Given the description of an element on the screen output the (x, y) to click on. 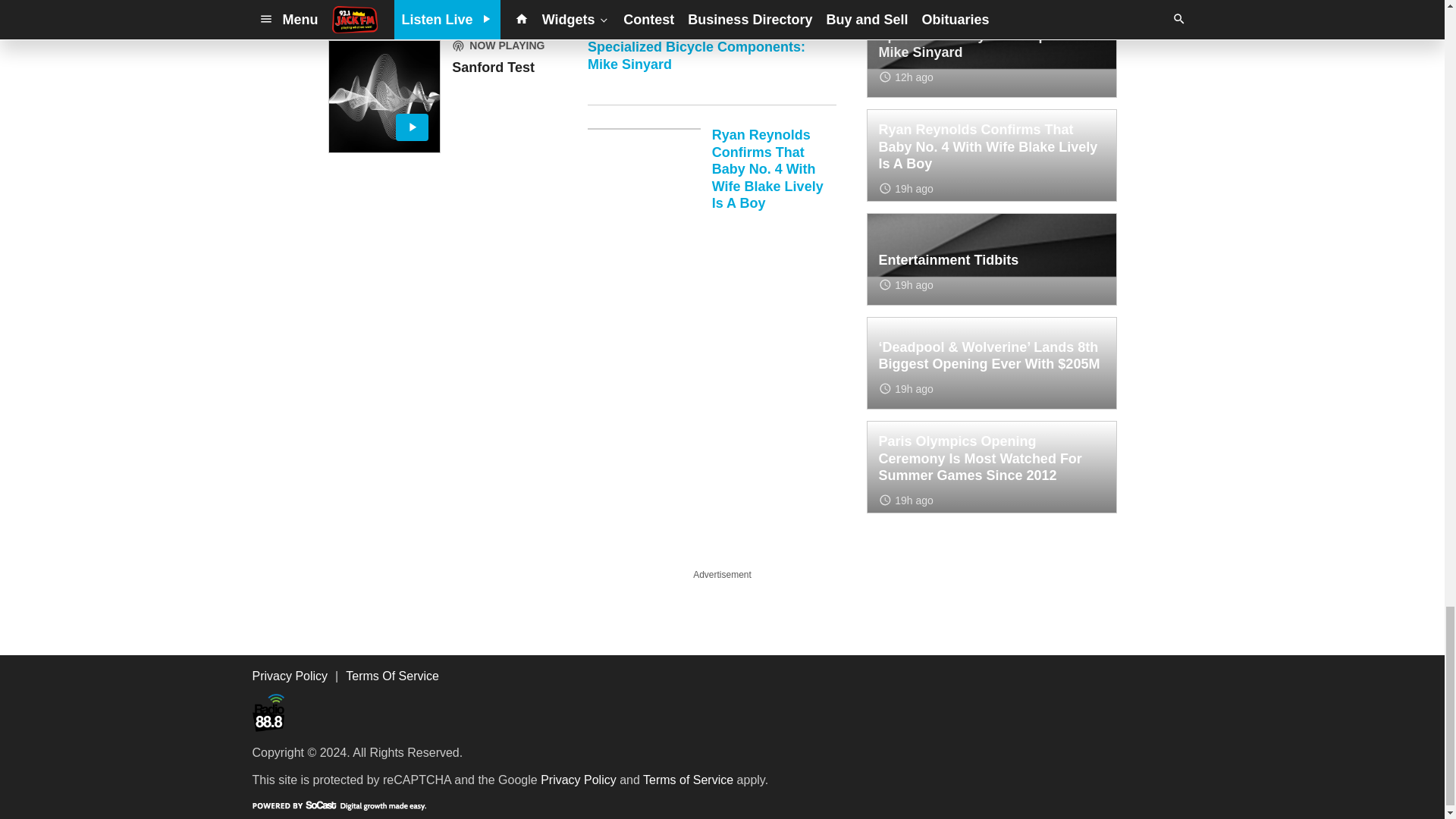
Listen Live (384, 96)
Specialized Bicycle Components: Mike Sinyard (711, 72)
